Given the description of an element on the screen output the (x, y) to click on. 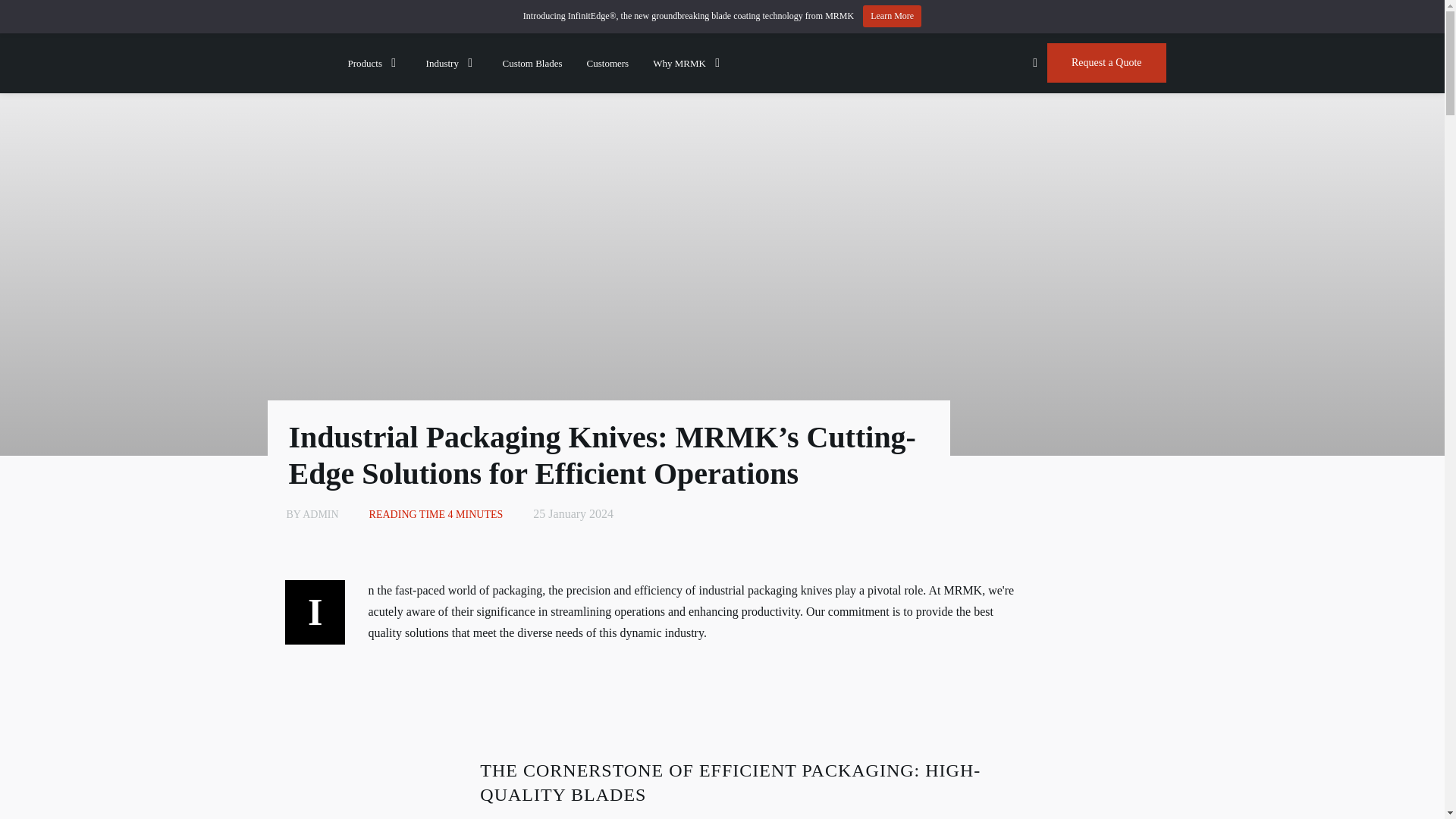
Custom Blades (532, 62)
Products (374, 62)
Industry (452, 62)
Why MRMK (688, 62)
Customers (607, 62)
